Given the description of an element on the screen output the (x, y) to click on. 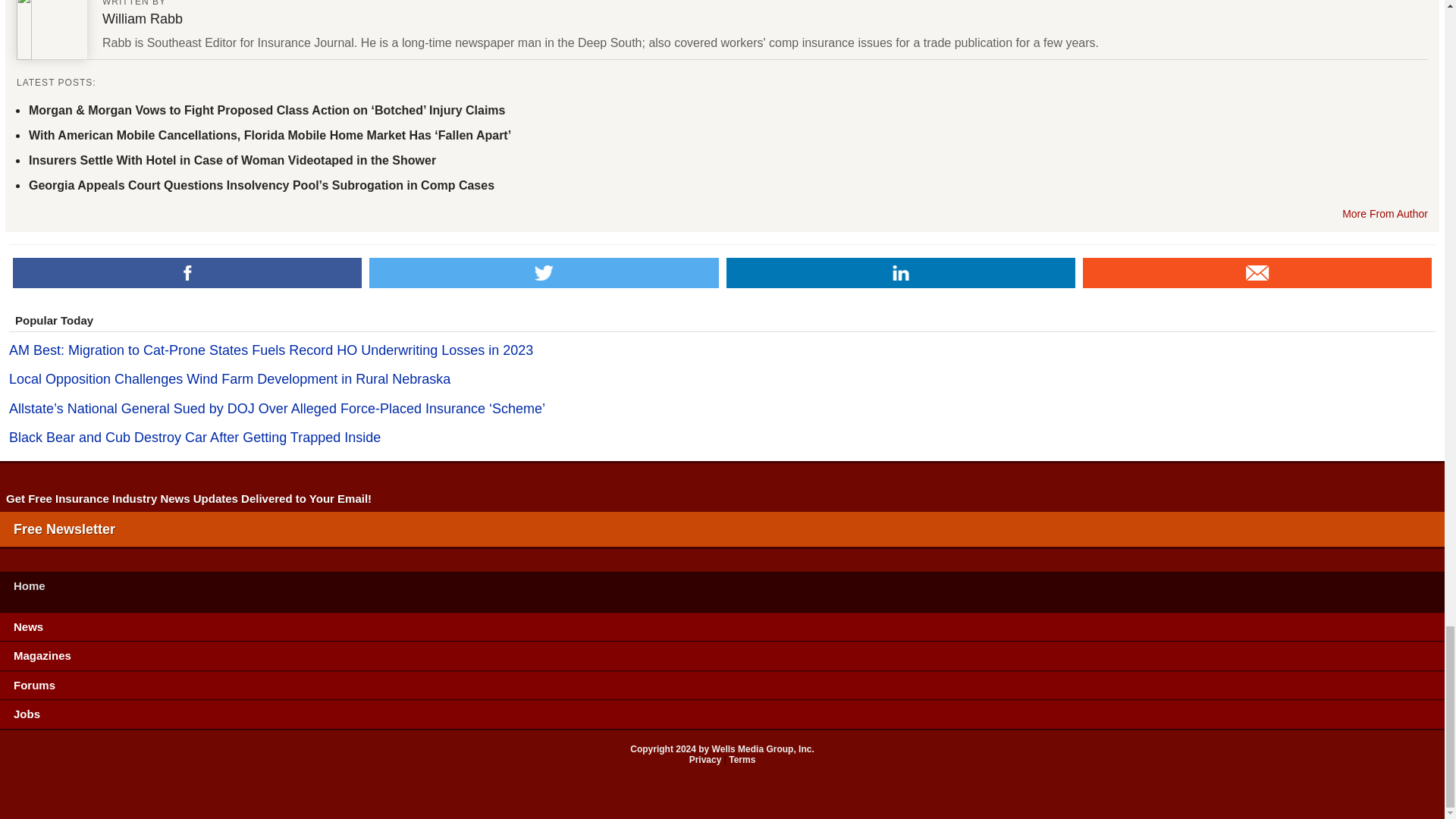
Share link through email. (1257, 272)
Share on LinkedIn. (900, 272)
More From Author (1385, 214)
Post to Facebook. (187, 272)
Black Bear and Cub Destroy Car After Getting Trapped Inside (721, 437)
Privacy (705, 759)
Share on Twitter. (543, 272)
Terms (742, 759)
